Given the description of an element on the screen output the (x, y) to click on. 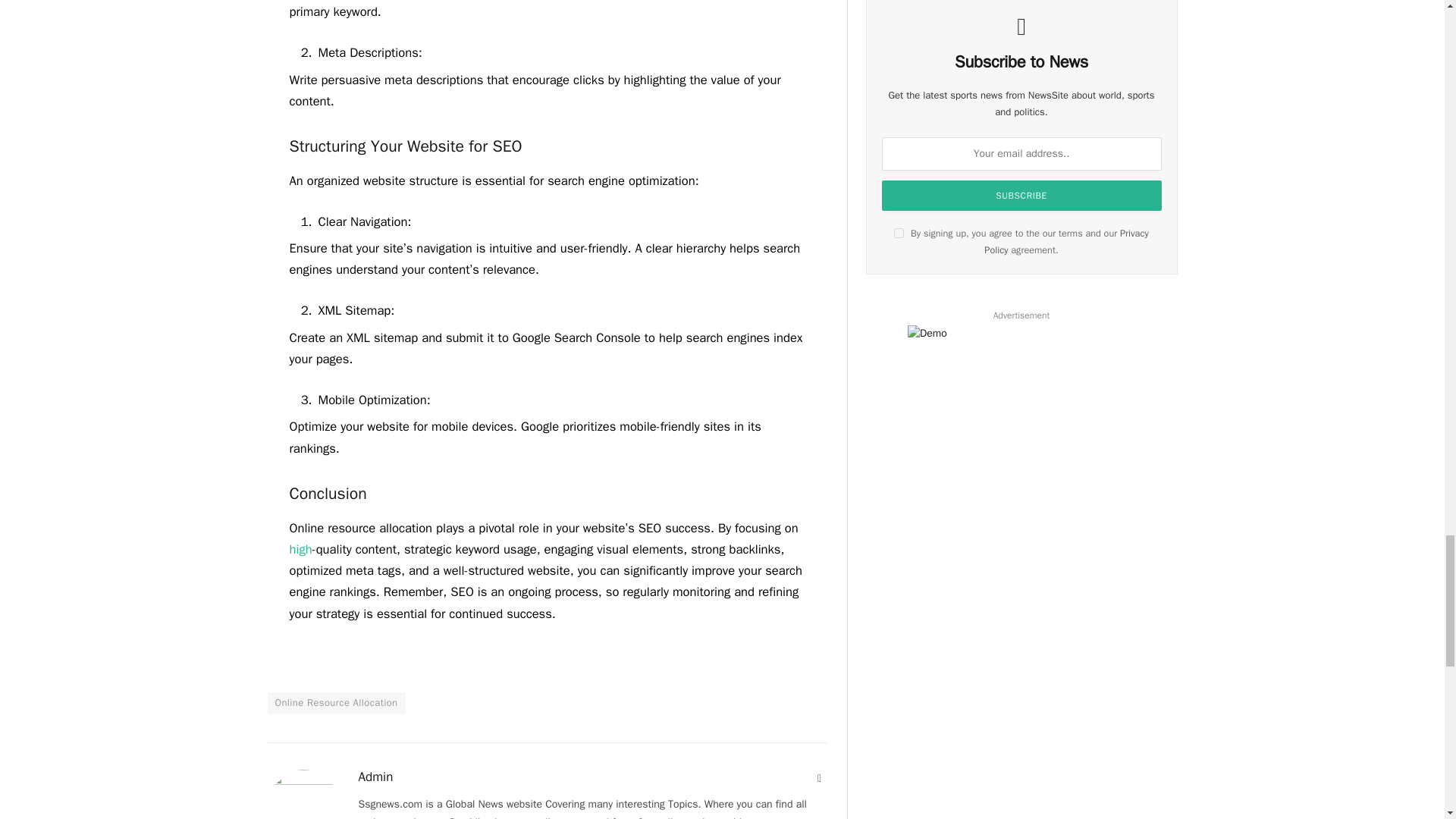
Website (818, 778)
Posts by Admin (375, 776)
Subscribe (1021, 195)
on (898, 233)
